Given the description of an element on the screen output the (x, y) to click on. 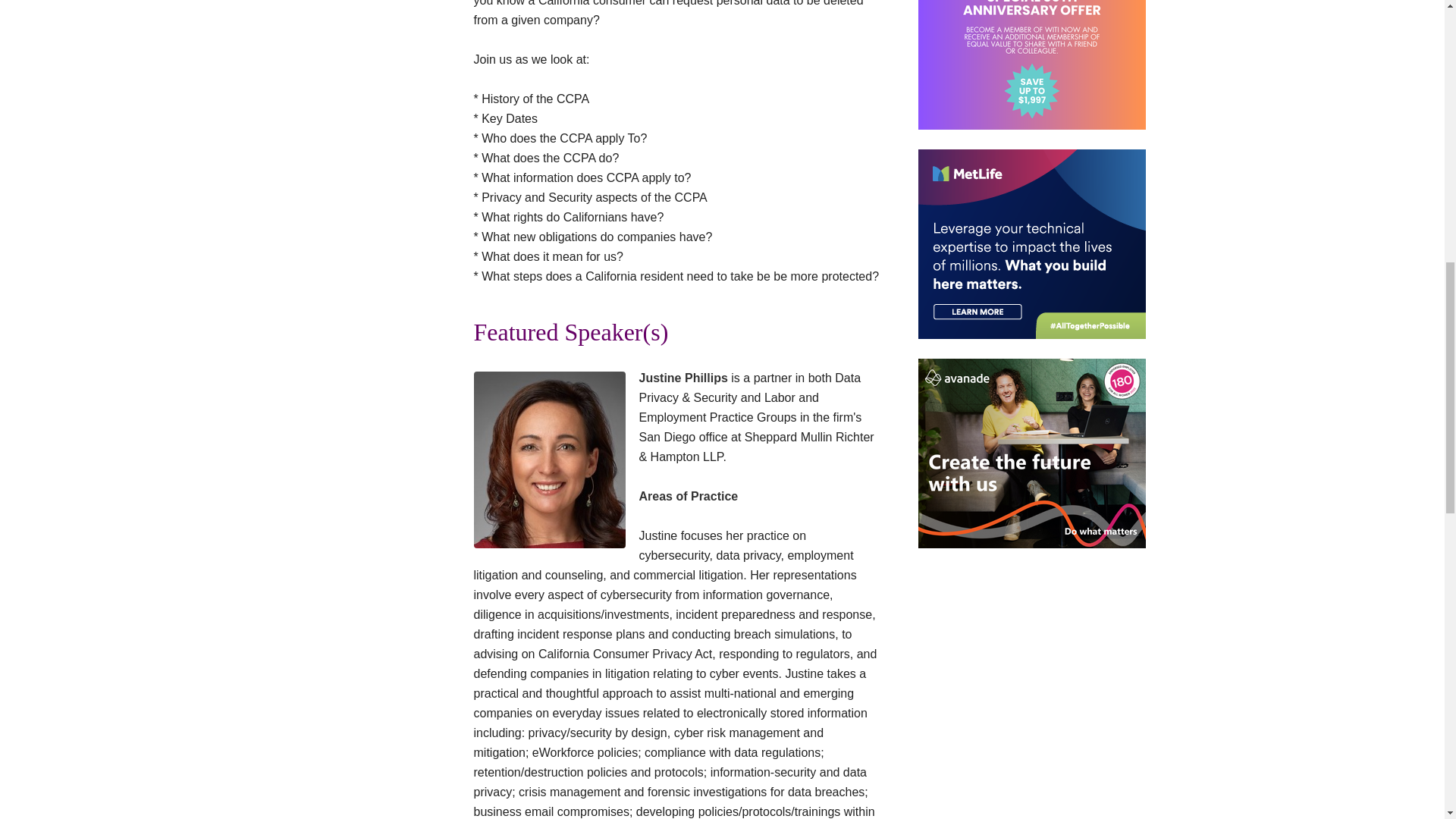
MetLife - All Together Possible (1030, 244)
Avanade Ad - women in tech working together (1030, 452)
